Given the description of an element on the screen output the (x, y) to click on. 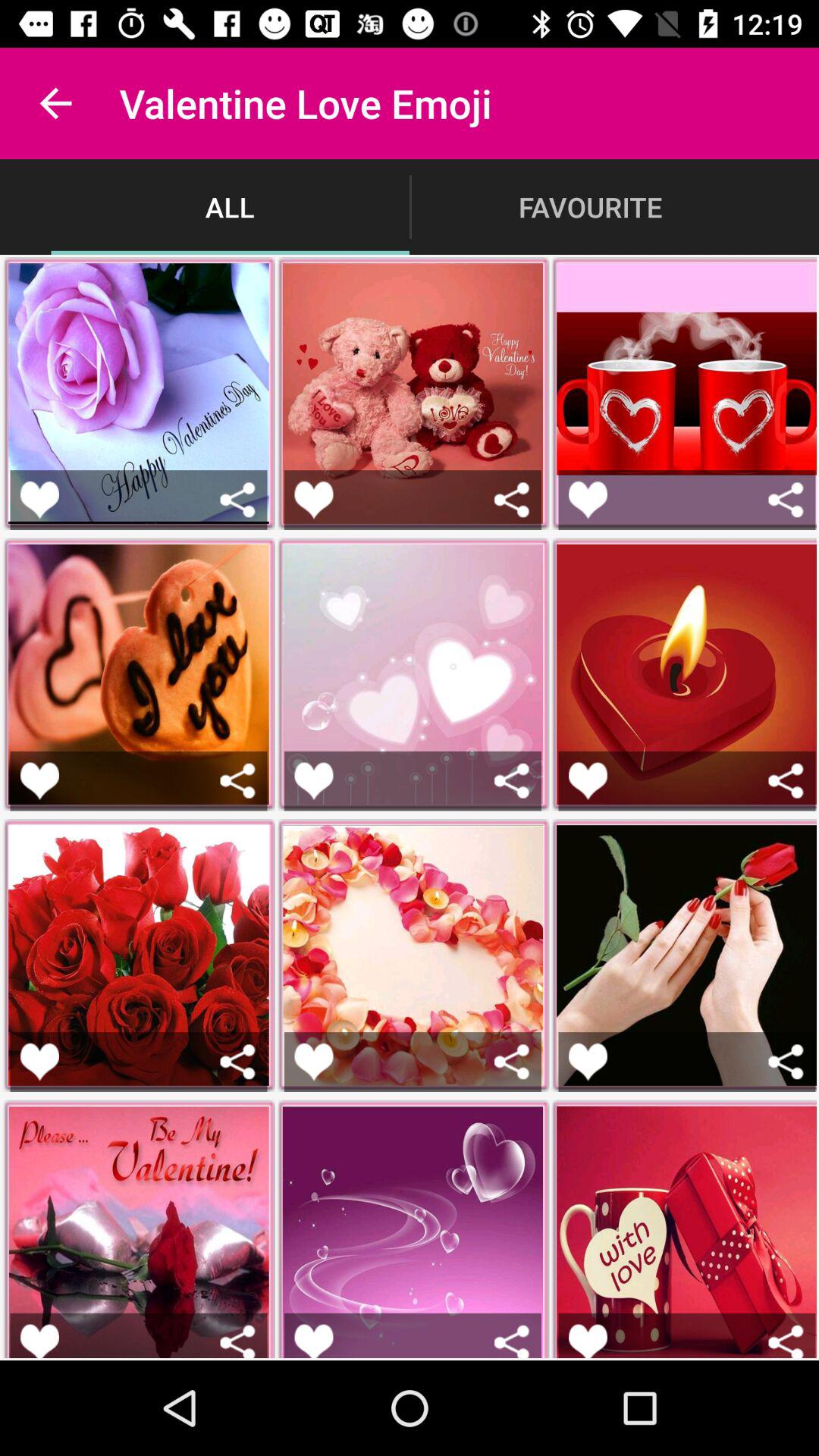
this is a proposal card (39, 499)
